Given the description of an element on the screen output the (x, y) to click on. 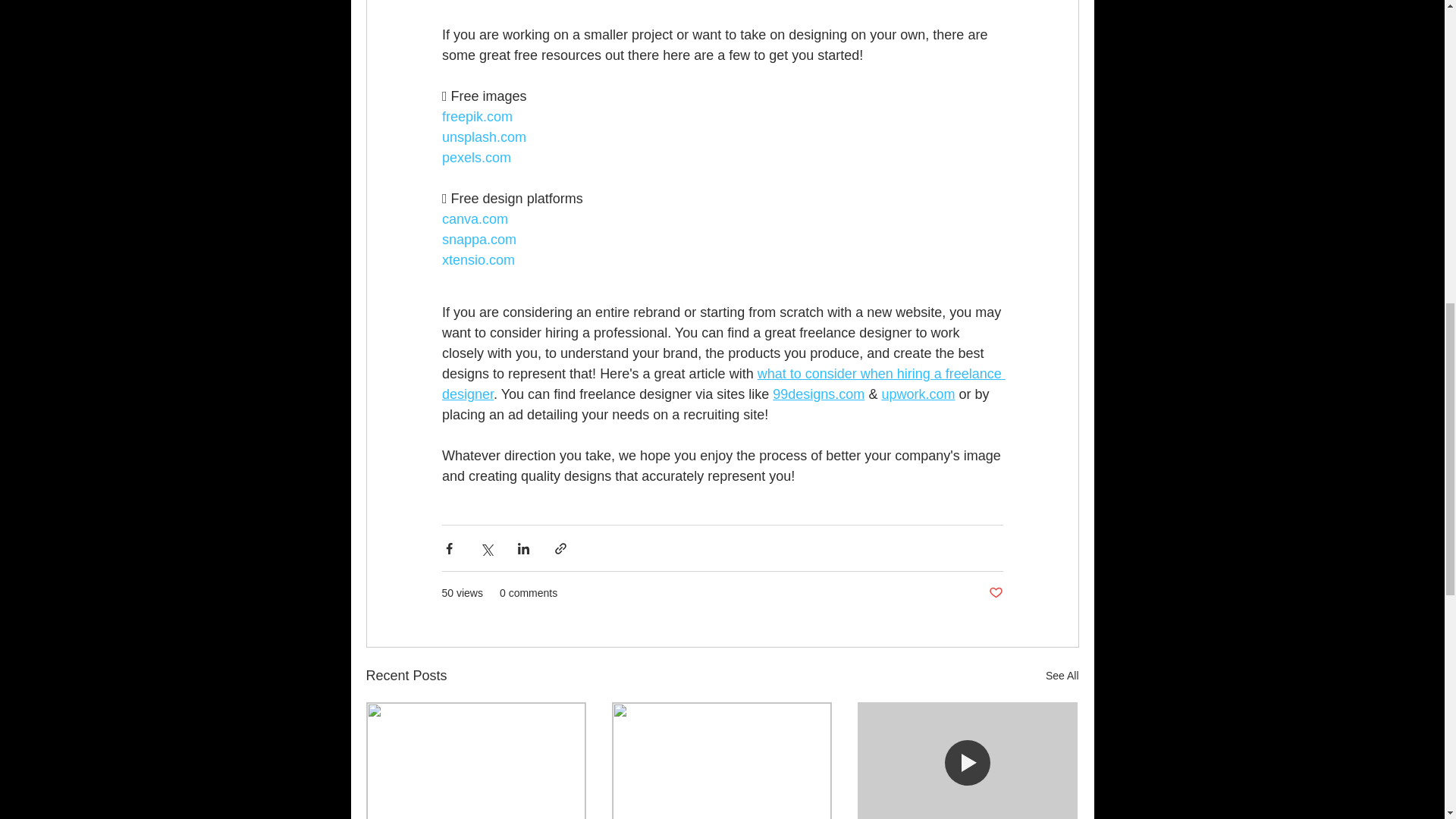
canva.com (473, 218)
Post not marked as liked (995, 593)
what to consider when hiring a freelance designer (722, 384)
unsplash.com (483, 136)
upwork.com (917, 394)
99designs.com (818, 394)
xtensio.com (477, 259)
pexels.com (476, 157)
freepik.com (476, 116)
snappa.com (478, 239)
